Given the description of an element on the screen output the (x, y) to click on. 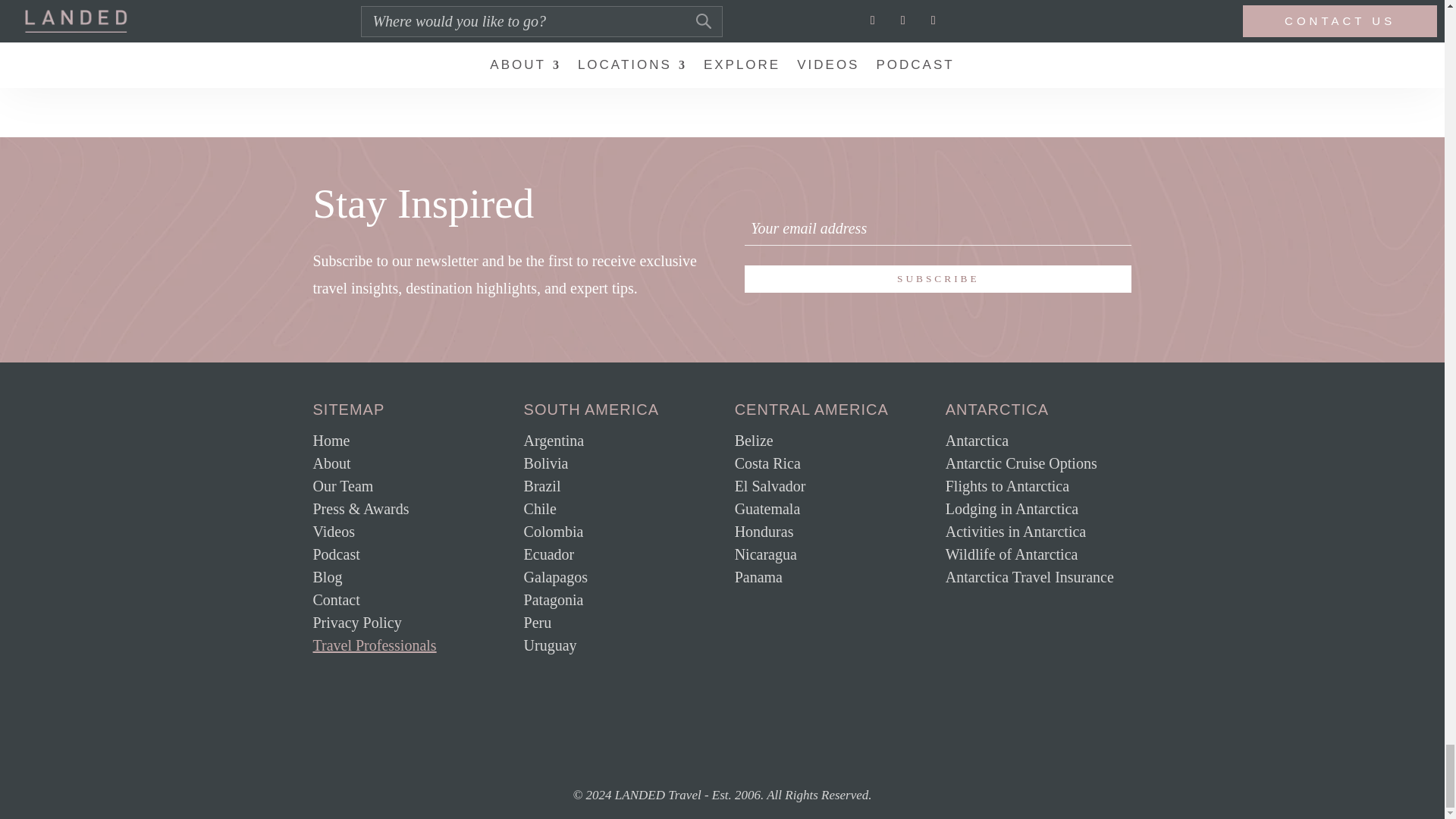
Sol y Luna Logo (793, 708)
CN 2020-2021-2022 (648, 708)
Subscribe (937, 278)
